Given the description of an element on the screen output the (x, y) to click on. 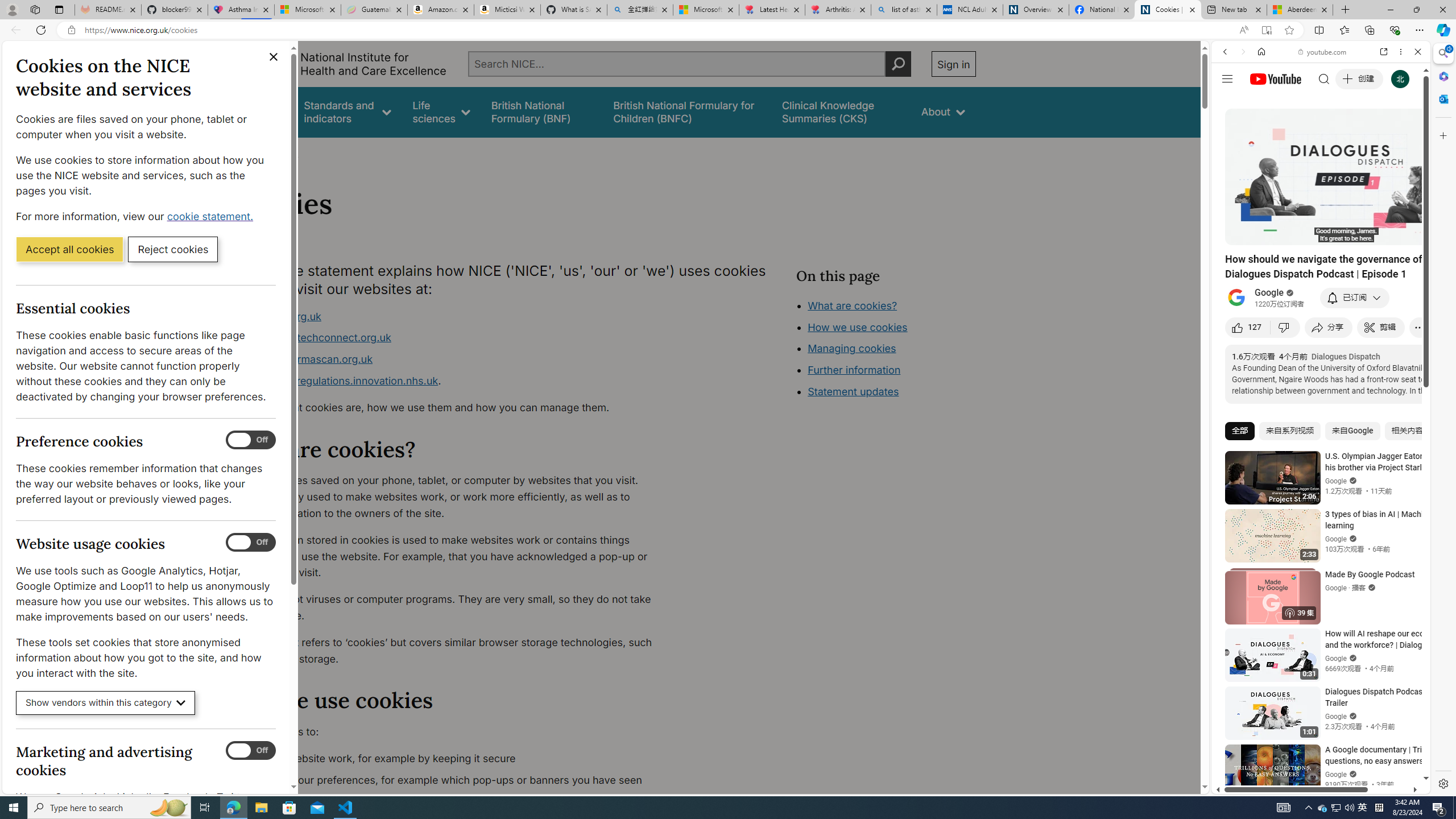
Asthma Inhalers: Names and Types (240, 9)
Dialogues Dispatch (1345, 356)
cookie statement. (Opens in a new window) (211, 215)
Accept all cookies (69, 248)
Preference cookies (250, 439)
Reject cookies (173, 248)
www.digitalregulations.innovation.nhs.uk (338, 380)
Preferences (1403, 129)
www.digitalregulations.innovation.nhs.uk. (452, 380)
